Given the description of an element on the screen output the (x, y) to click on. 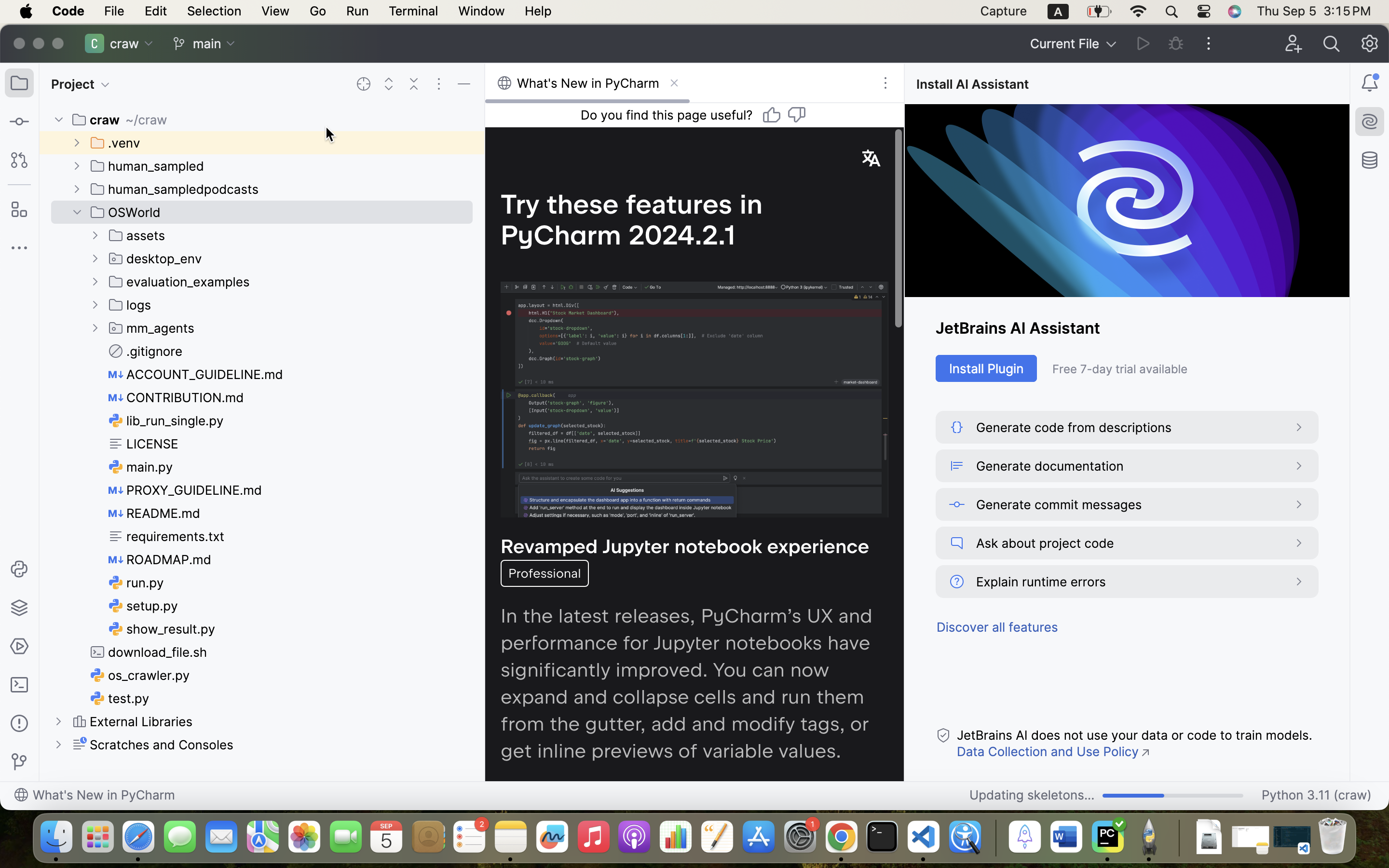
PIL._imagingcms Element type: AXStaticText (739, 753)
Install AI Assistant Element type: AXStaticText (974, 83)
assets Element type: AXStaticText (137, 234)
